Given the description of an element on the screen output the (x, y) to click on. 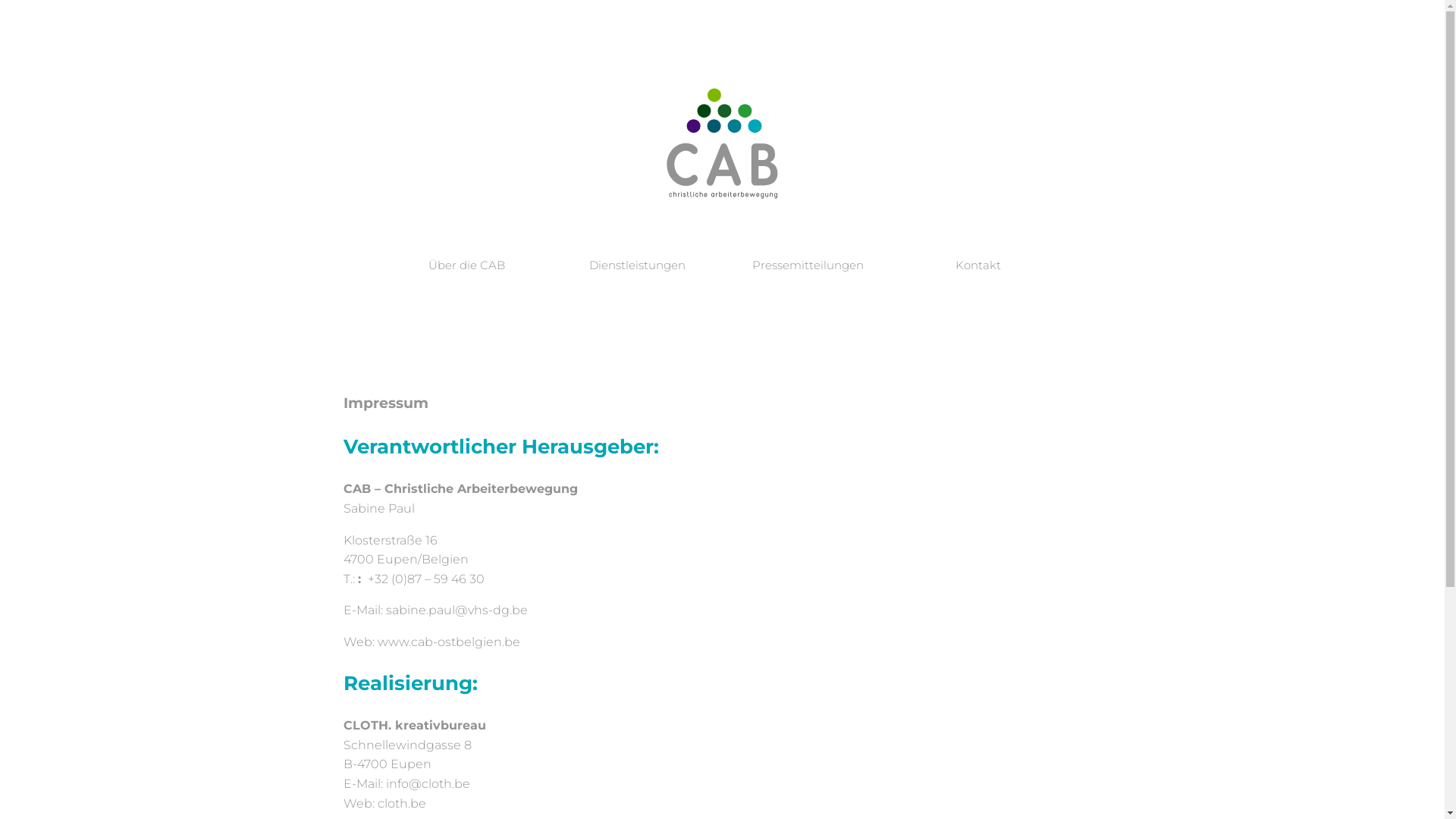
Dienstleistungen Element type: text (636, 264)
info@cloth.be Element type: text (427, 783)
sabine.paul@vhs-dg.be Element type: text (456, 609)
www.cab-ostbelgien.be Element type: text (448, 641)
Startseite - CAB Ostbelgien Element type: text (722, 107)
Kontakt Element type: text (978, 264)
cloth.be Element type: text (401, 803)
Pressemitteilungen Element type: text (807, 264)
